Given the description of an element on the screen output the (x, y) to click on. 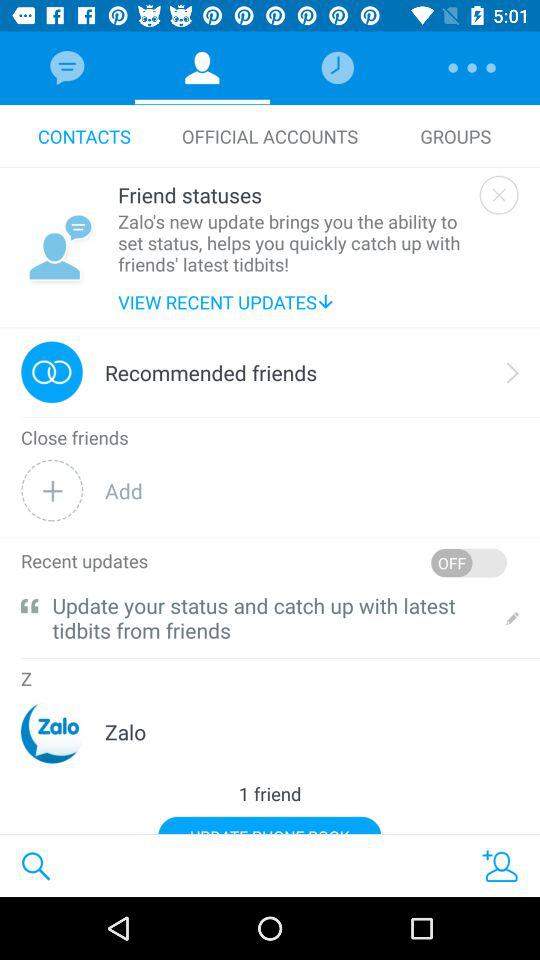
launch the add item (312, 490)
